Given the description of an element on the screen output the (x, y) to click on. 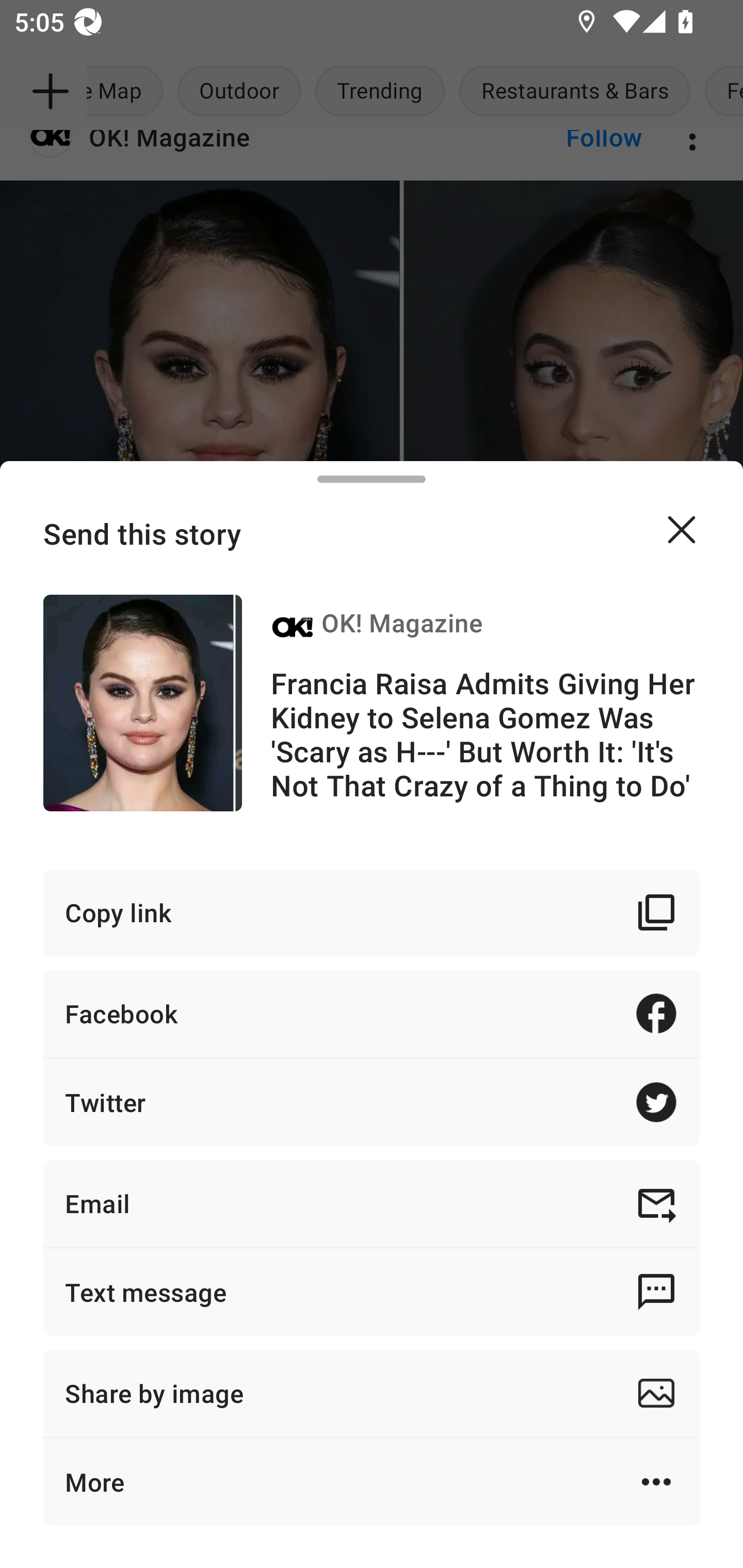
Copy link (371, 912)
Facebook (371, 1013)
Twitter (371, 1102)
Email (371, 1203)
Text message (371, 1291)
Share by image (371, 1393)
More (371, 1481)
